Given the description of an element on the screen output the (x, y) to click on. 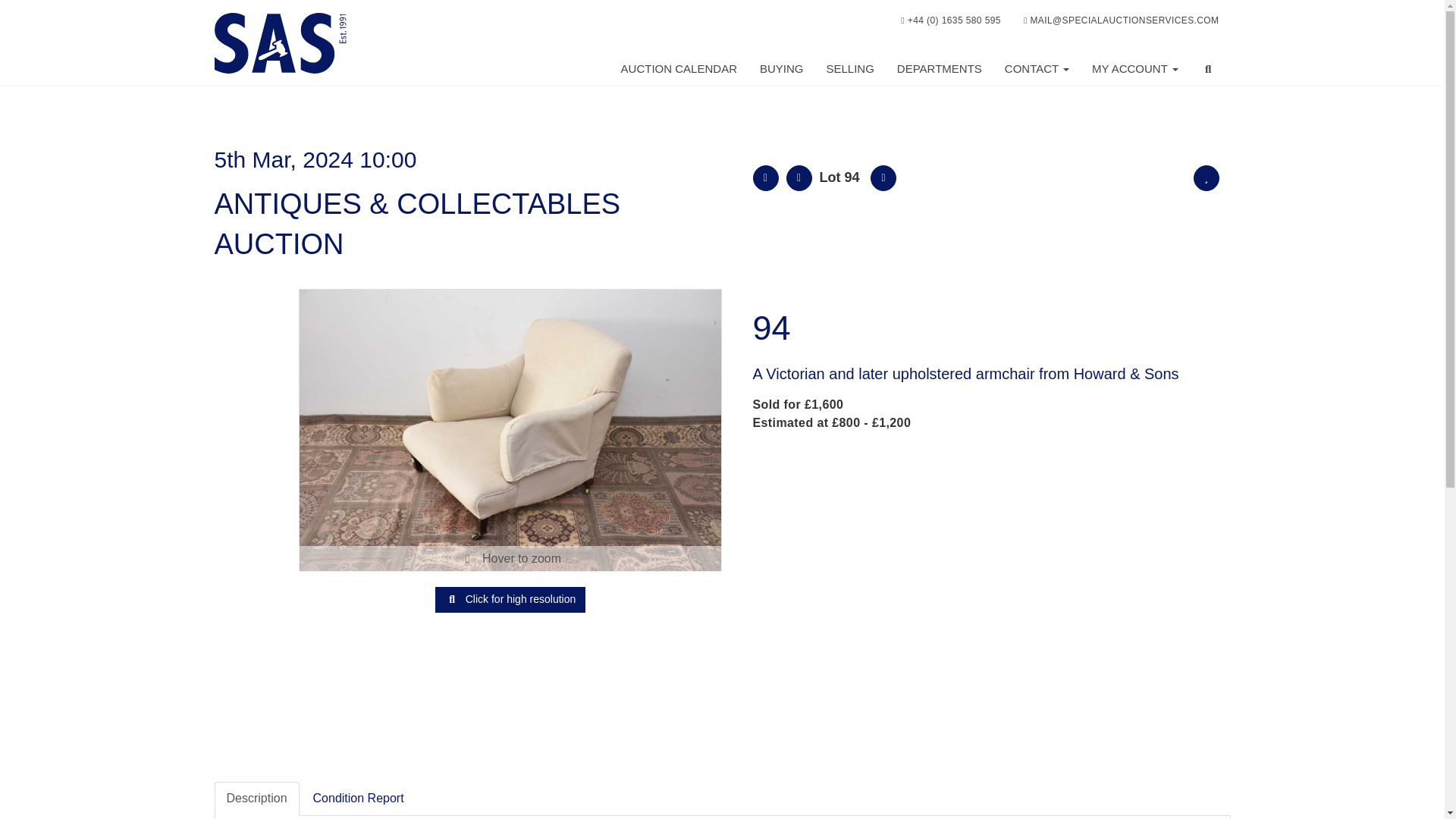
DEPARTMENTS (938, 68)
Add to wishlist (1206, 177)
CONTACT (1036, 68)
Click for high resolution (510, 430)
BUYING (781, 68)
Back to list (764, 177)
Click for high resolution (510, 599)
Next lot (883, 177)
AUCTION CALENDAR (679, 68)
SELLING (849, 68)
